Given the description of an element on the screen output the (x, y) to click on. 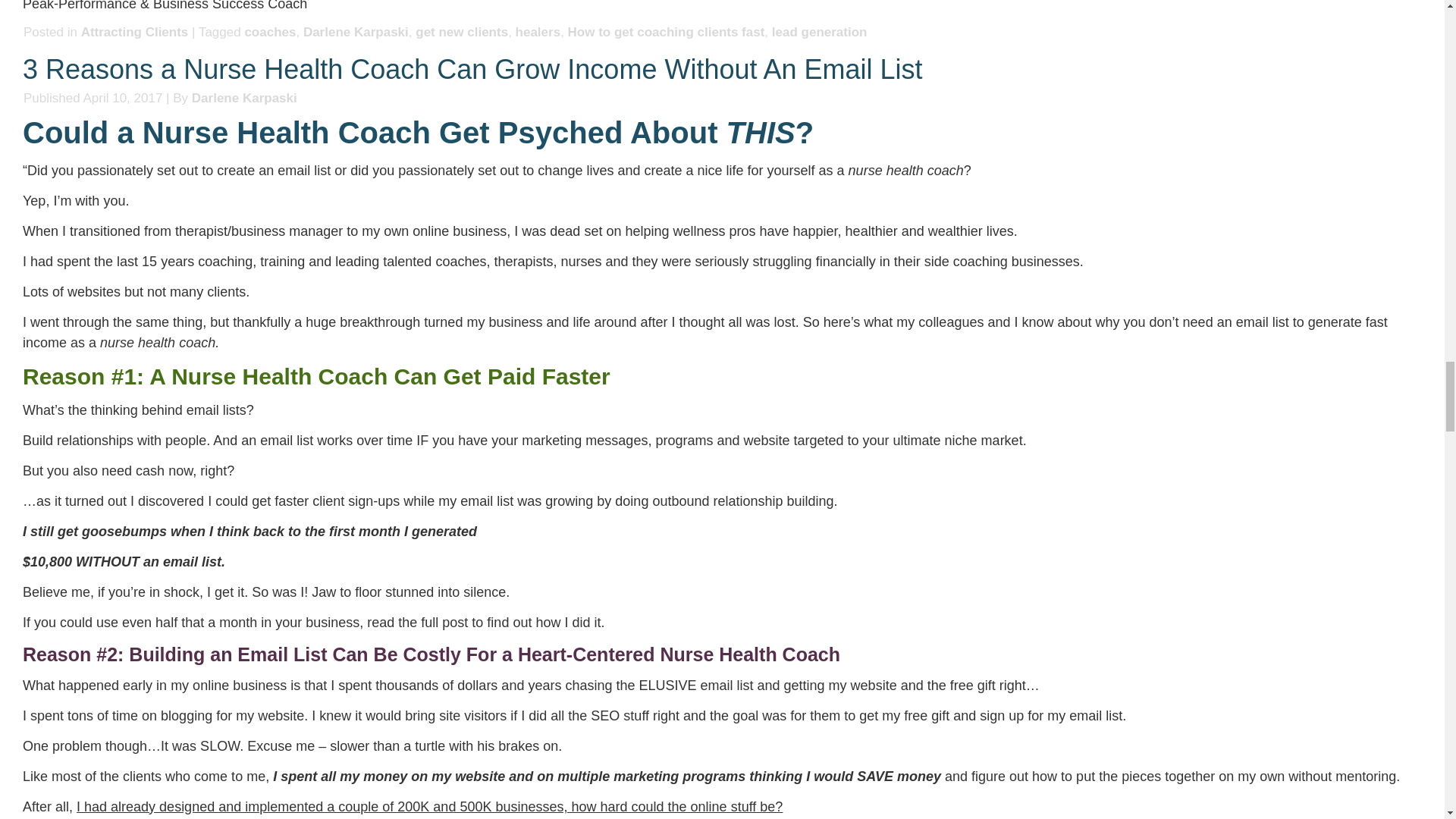
Darlene Karpaski (355, 32)
How to get coaching clients fast (666, 32)
Attracting Clients (135, 32)
healers (537, 32)
lead generation (819, 32)
Darlene Karpaski (244, 97)
get new clients (461, 32)
coaches (269, 32)
